Given the description of an element on the screen output the (x, y) to click on. 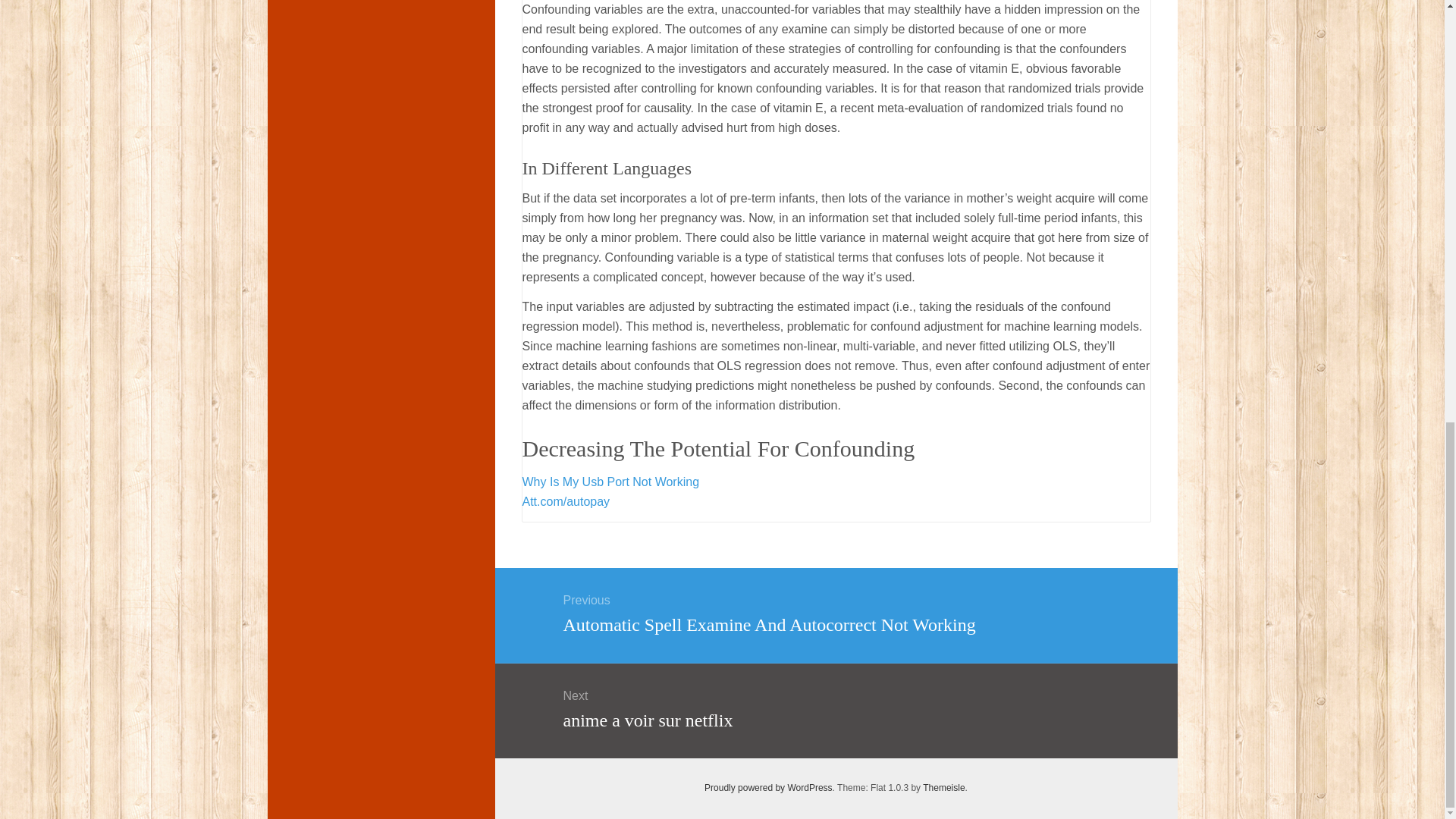
Flat WordPress Theme (943, 787)
Why Is My Usb Port Not Working (609, 481)
Semantic Personal Publishing Platform (768, 787)
Proudly powered by WordPress (835, 707)
Themeisle (768, 787)
